Given the description of an element on the screen output the (x, y) to click on. 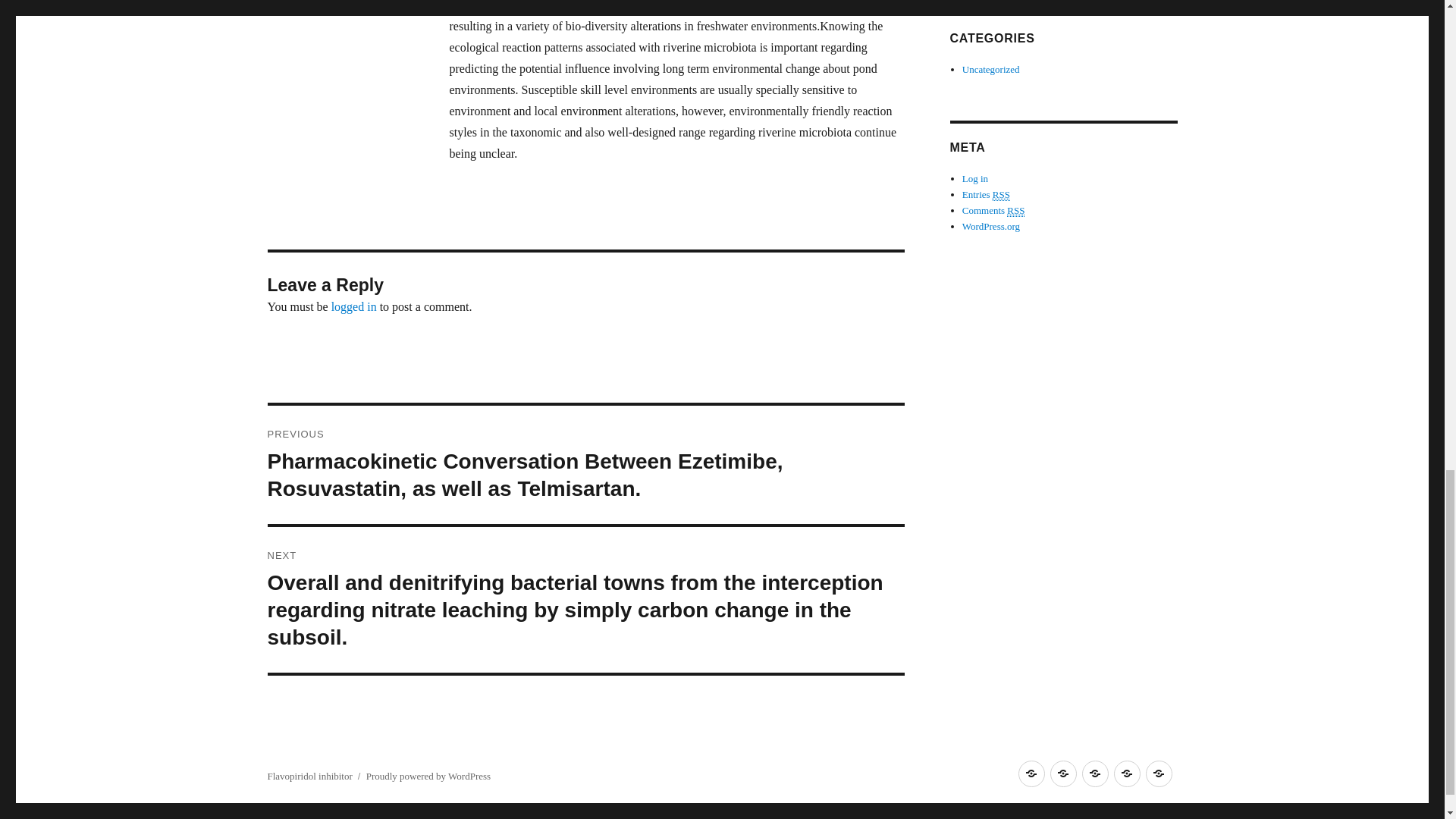
logged in (354, 306)
Really Simple Syndication (1016, 210)
Really Simple Syndication (1001, 194)
